Given the description of an element on the screen output the (x, y) to click on. 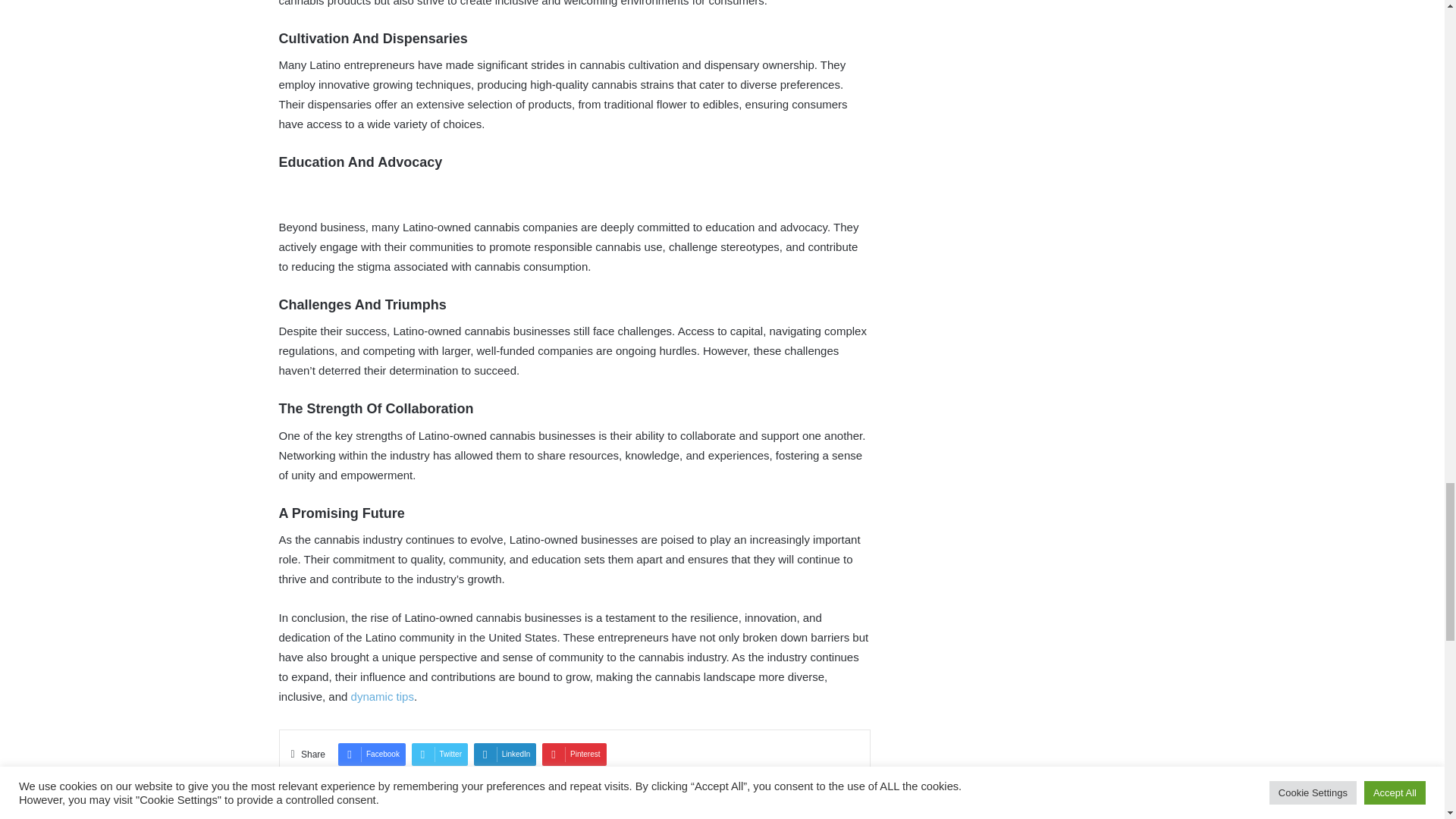
dynamic tips (381, 696)
Facebook (371, 753)
